Given the description of an element on the screen output the (x, y) to click on. 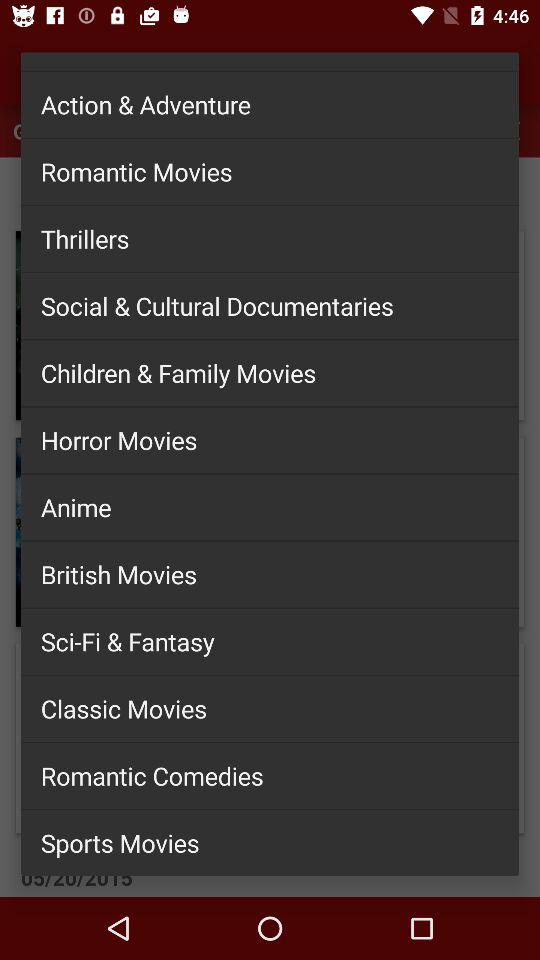
choose the    romantic comedies (269, 775)
